Given the description of an element on the screen output the (x, y) to click on. 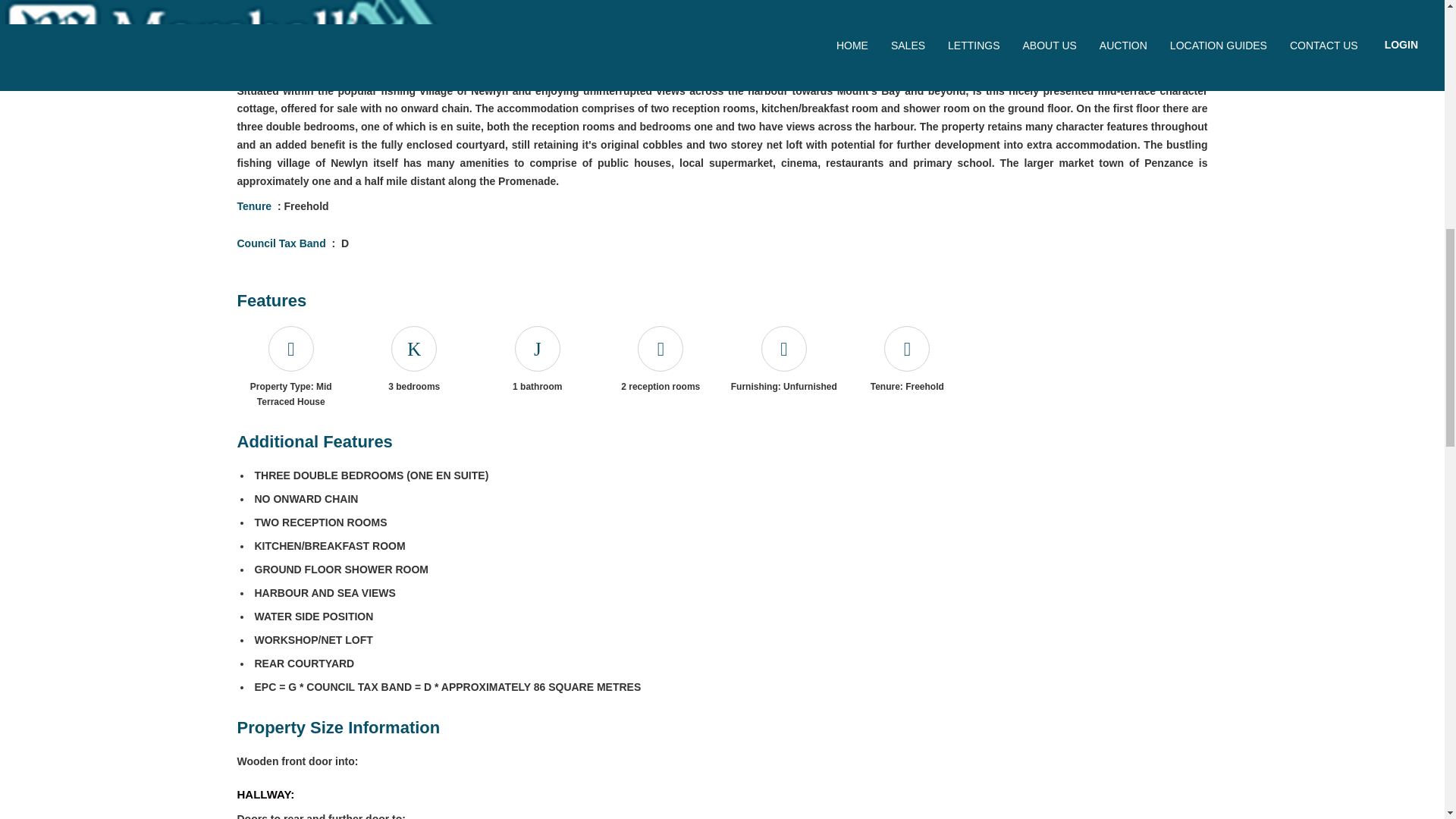
Property Type: Mid Terraced House (290, 348)
Tenure: Freehold (907, 348)
1 bathroom (537, 348)
Market info (386, 9)
Furnishing: Unfurnished (783, 348)
3 bedrooms (413, 348)
2 reception rooms (659, 348)
